Given the description of an element on the screen output the (x, y) to click on. 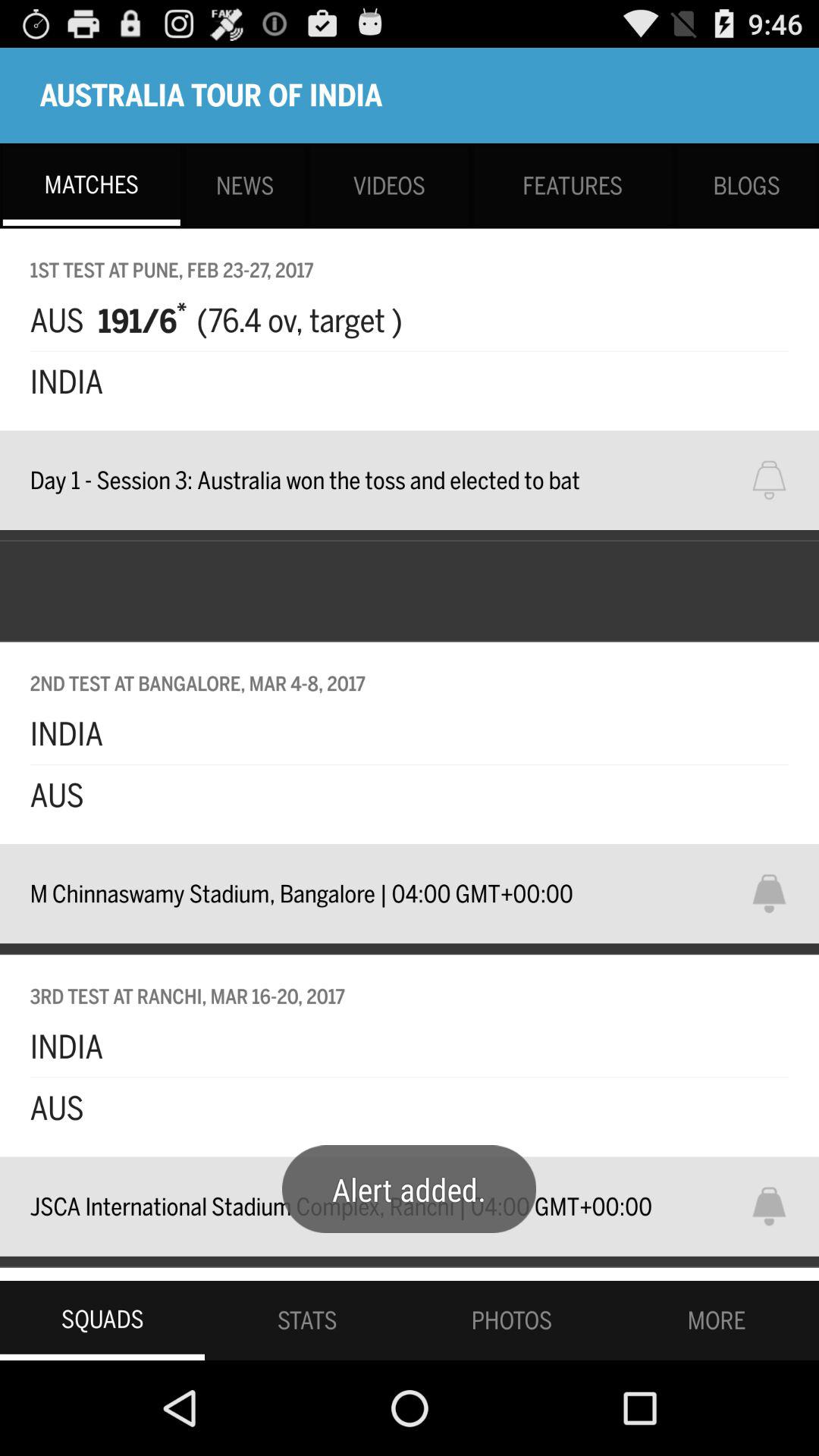
select notification (778, 893)
